Given the description of an element on the screen output the (x, y) to click on. 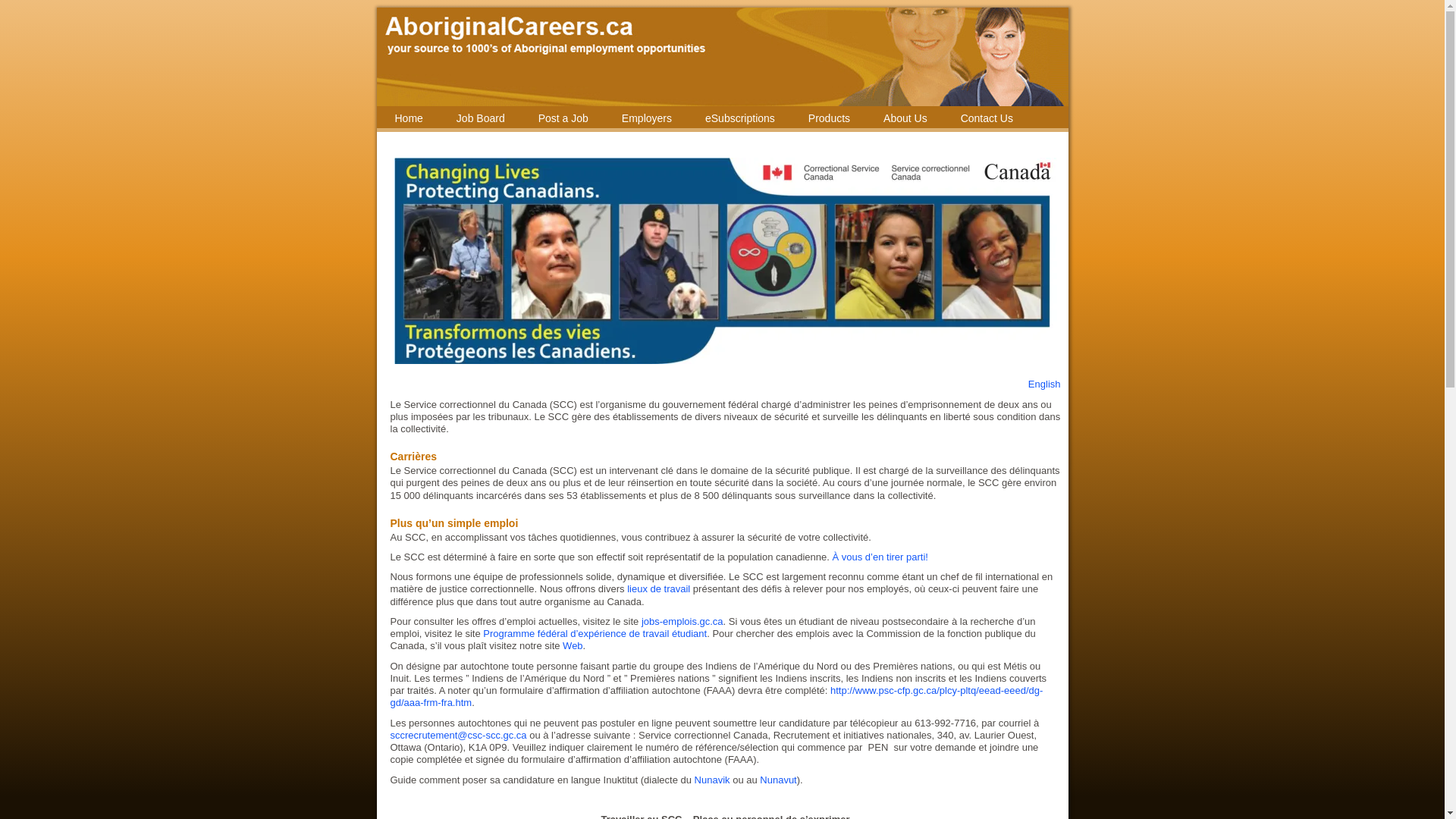
Job Board Element type: text (480, 117)
Home Element type: text (408, 117)
Post a Job Element type: text (563, 117)
Web Element type: text (572, 645)
Employers Element type: text (646, 117)
sccrecrutement@csc-scc.gc.ca Element type: text (457, 734)
Contact Us Element type: text (986, 117)
jobs-emplois.gc.ca Element type: text (682, 621)
Products Element type: text (828, 117)
Nunavut Element type: text (777, 779)
About Us Element type: text (905, 117)
eSubscriptions Element type: text (739, 117)
English Element type: text (1044, 383)
Nunavik Element type: text (713, 779)
lieux de travail Element type: text (658, 588)
